Given the description of an element on the screen output the (x, y) to click on. 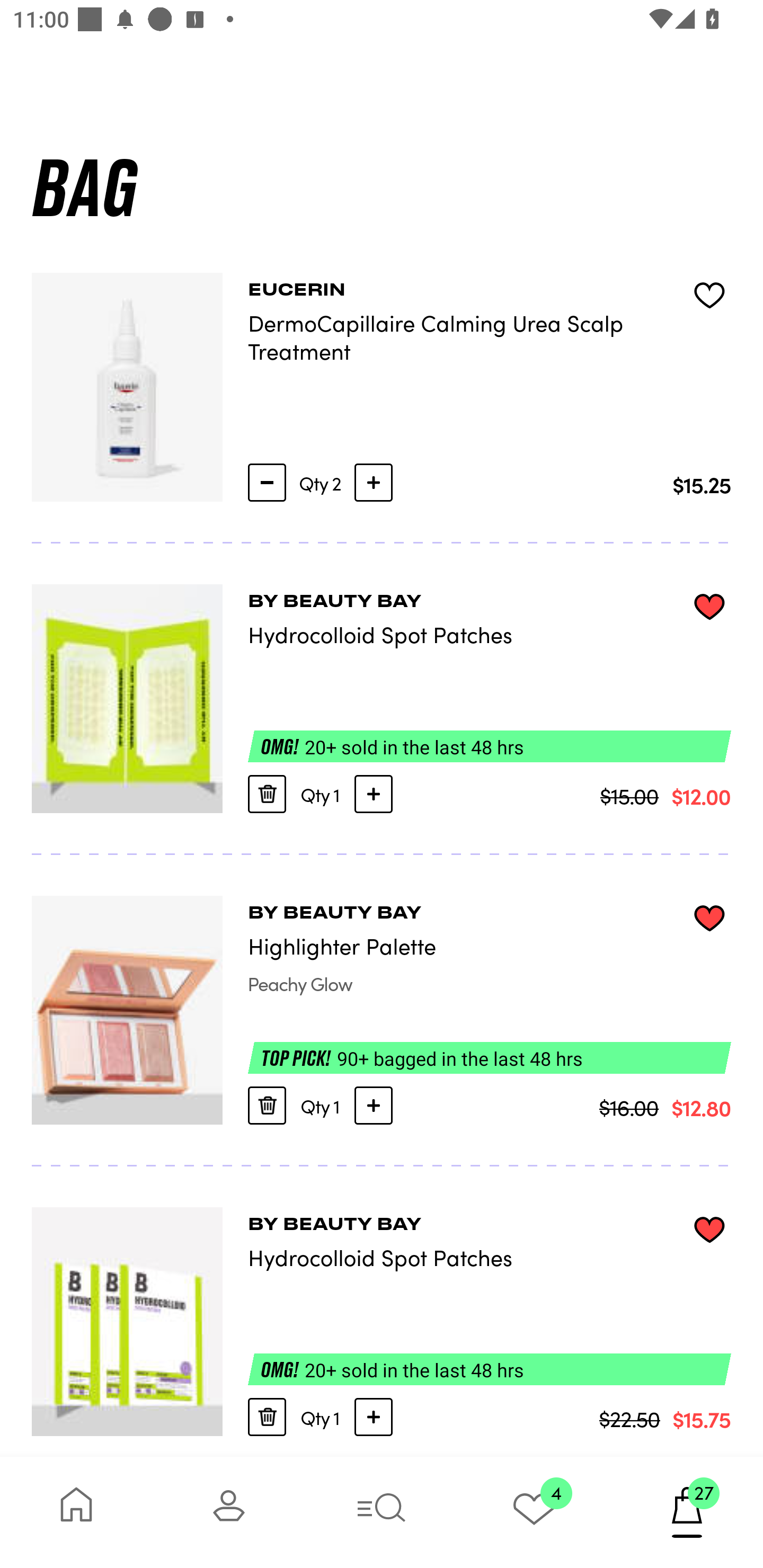
4 (533, 1512)
27 (686, 1512)
